Given the description of an element on the screen output the (x, y) to click on. 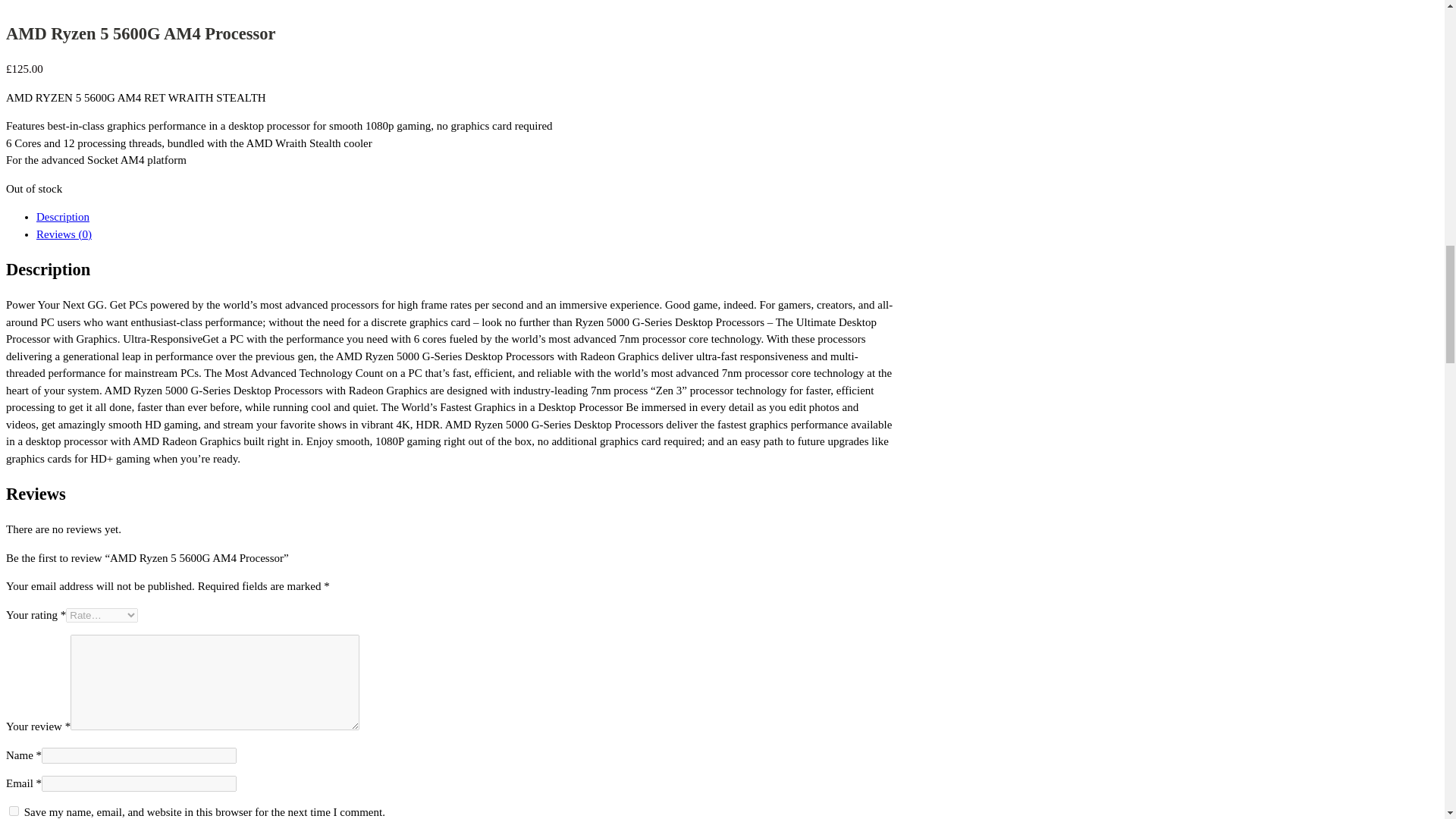
yes (13, 810)
